Given the description of an element on the screen output the (x, y) to click on. 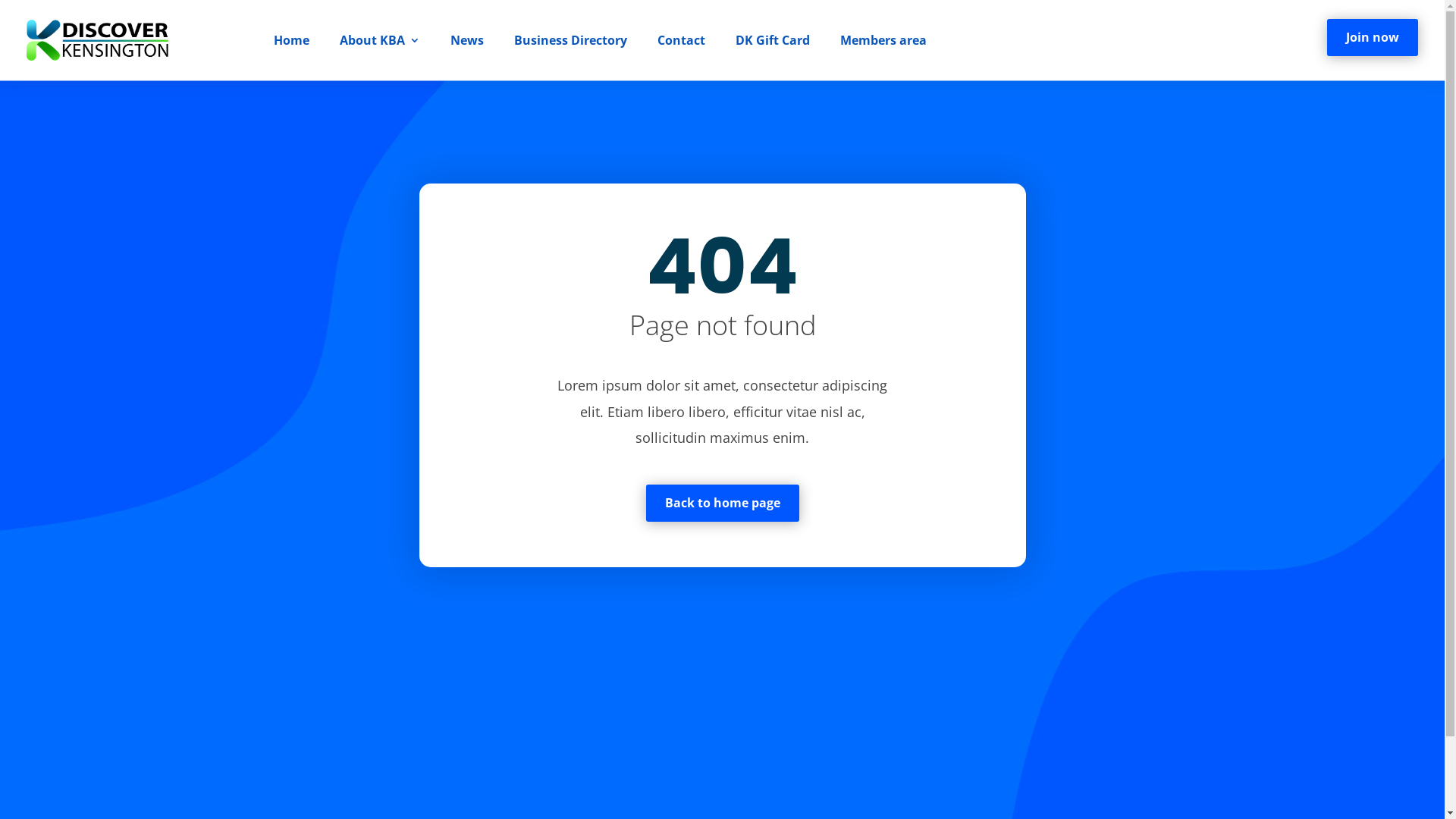
DK Gift Card Element type: text (772, 40)
Contact Element type: text (681, 40)
Home Element type: text (291, 40)
Members area Element type: text (883, 40)
Join now Element type: text (1372, 37)
About KBA Element type: text (379, 40)
News Element type: text (466, 40)
Back to home page Element type: text (722, 502)
Business Directory Element type: text (570, 40)
